Given the description of an element on the screen output the (x, y) to click on. 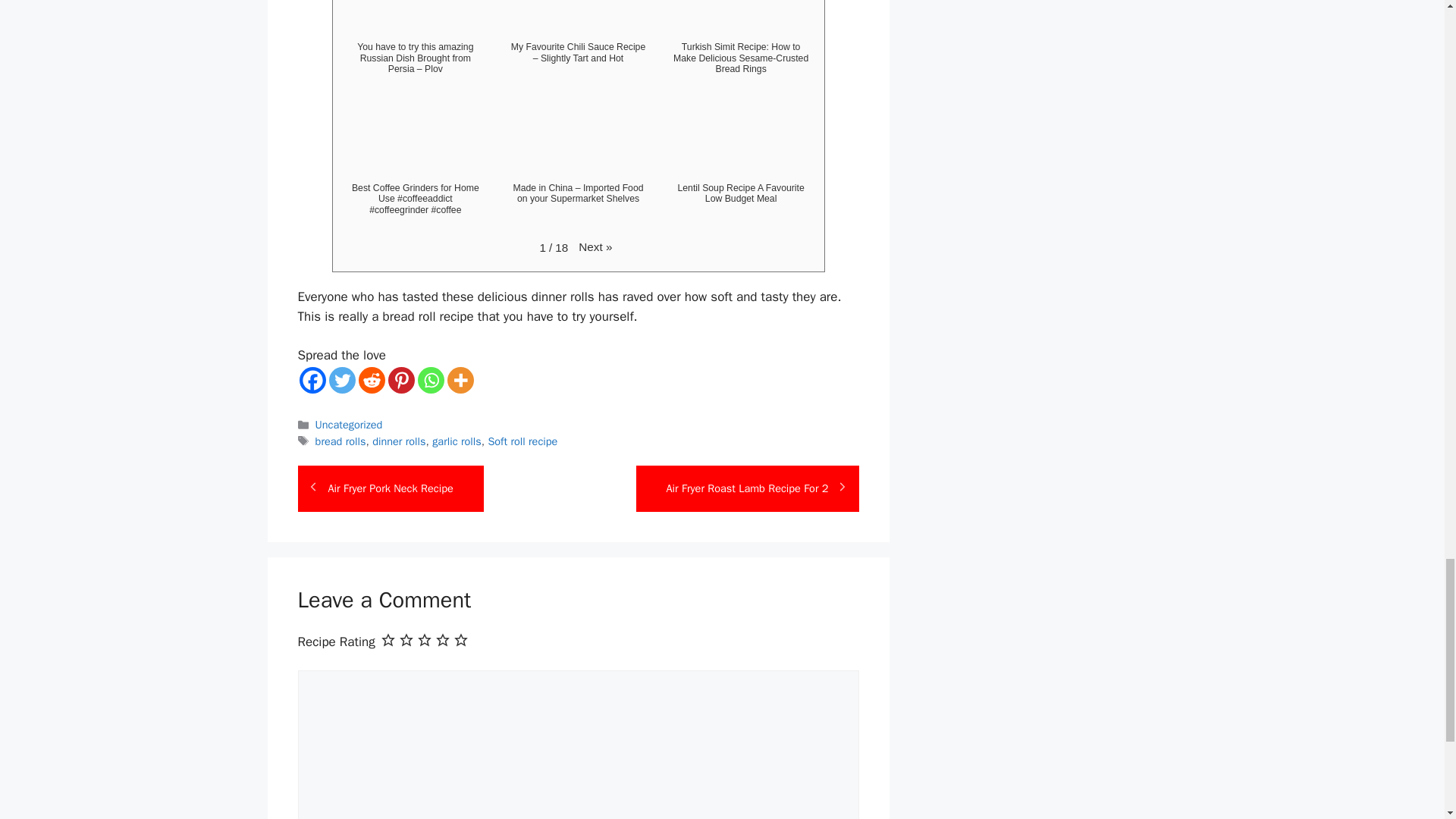
Soft roll recipe (522, 440)
garlic rolls (456, 440)
Facebook (311, 379)
Pinterest (401, 379)
Twitter (342, 379)
More (460, 379)
bread rolls (340, 440)
Air Fryer Pork Neck Recipe (390, 489)
Reddit (371, 379)
Uncategorized (348, 424)
